Given the description of an element on the screen output the (x, y) to click on. 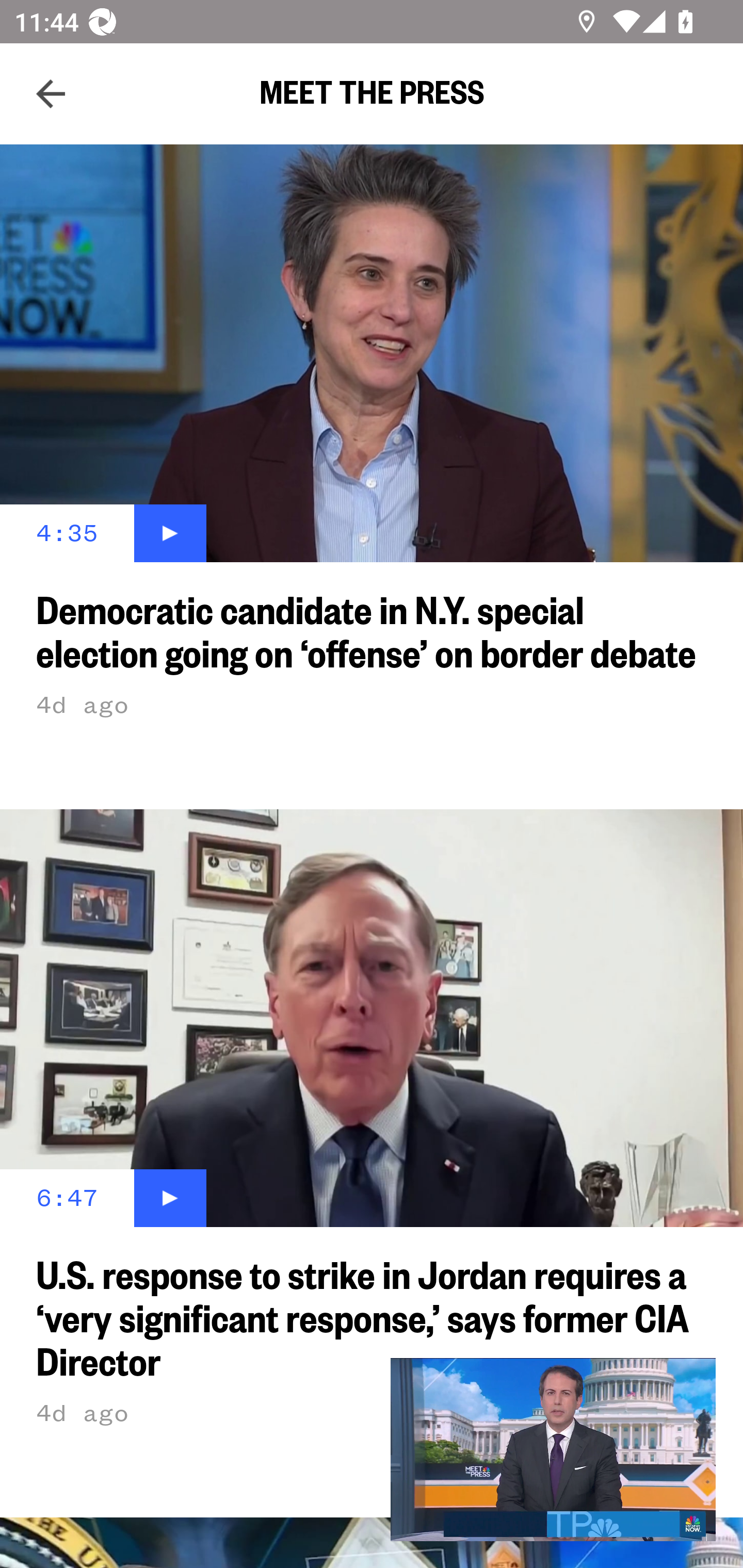
Navigate up (50, 93)
